Given the description of an element on the screen output the (x, y) to click on. 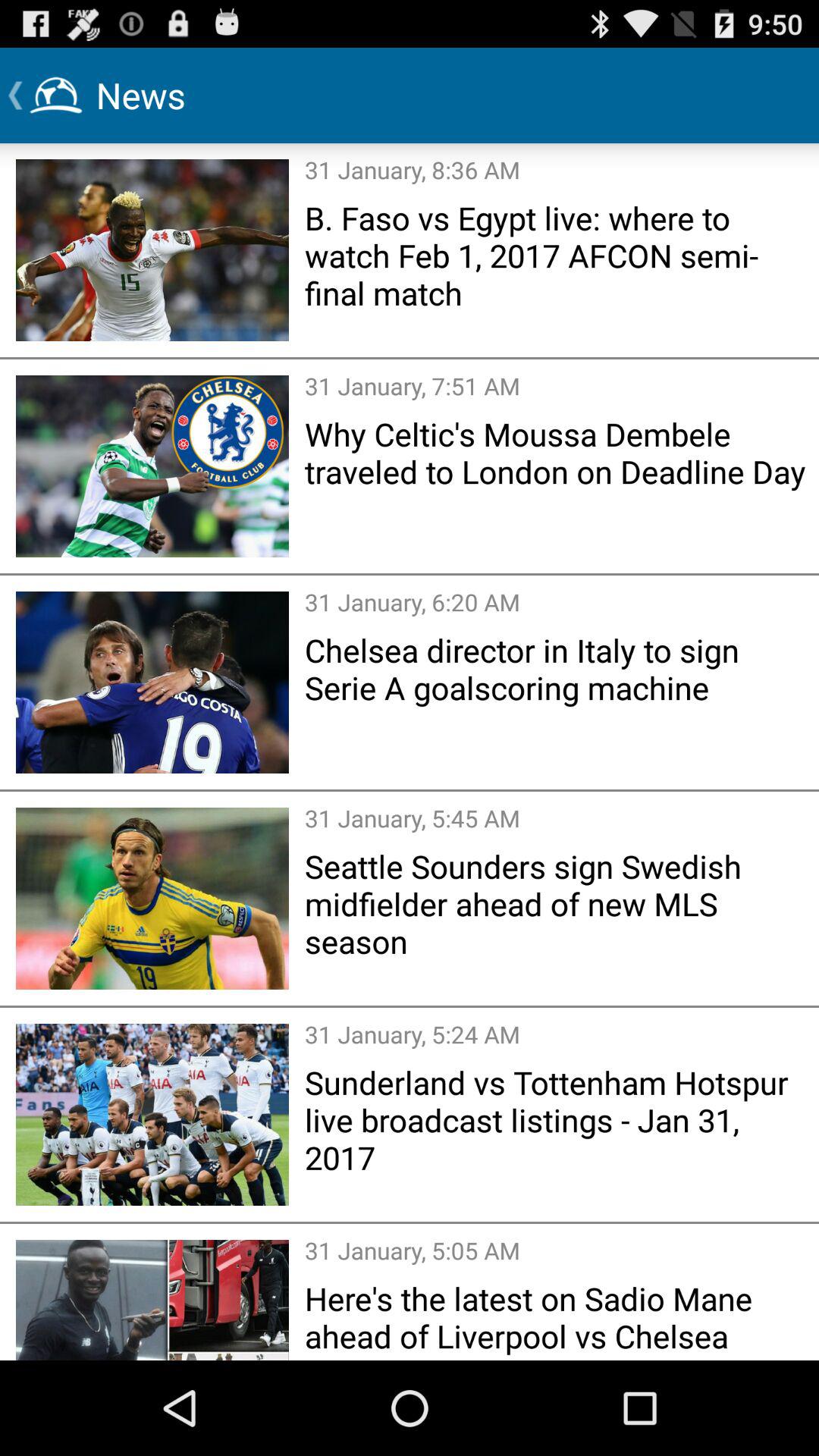
select the item above the 31 january 5 icon (556, 903)
